Given the description of an element on the screen output the (x, y) to click on. 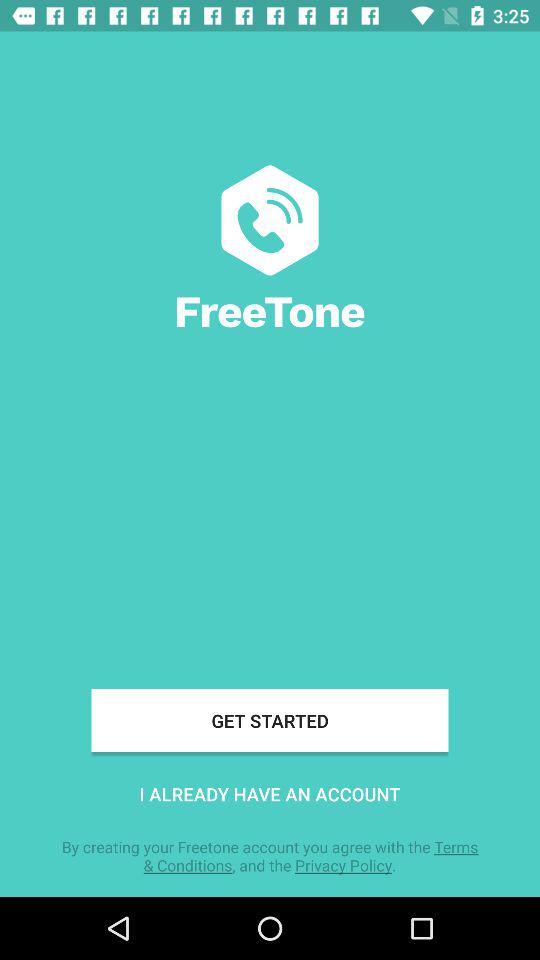
jump to the i already have (269, 793)
